Given the description of an element on the screen output the (x, y) to click on. 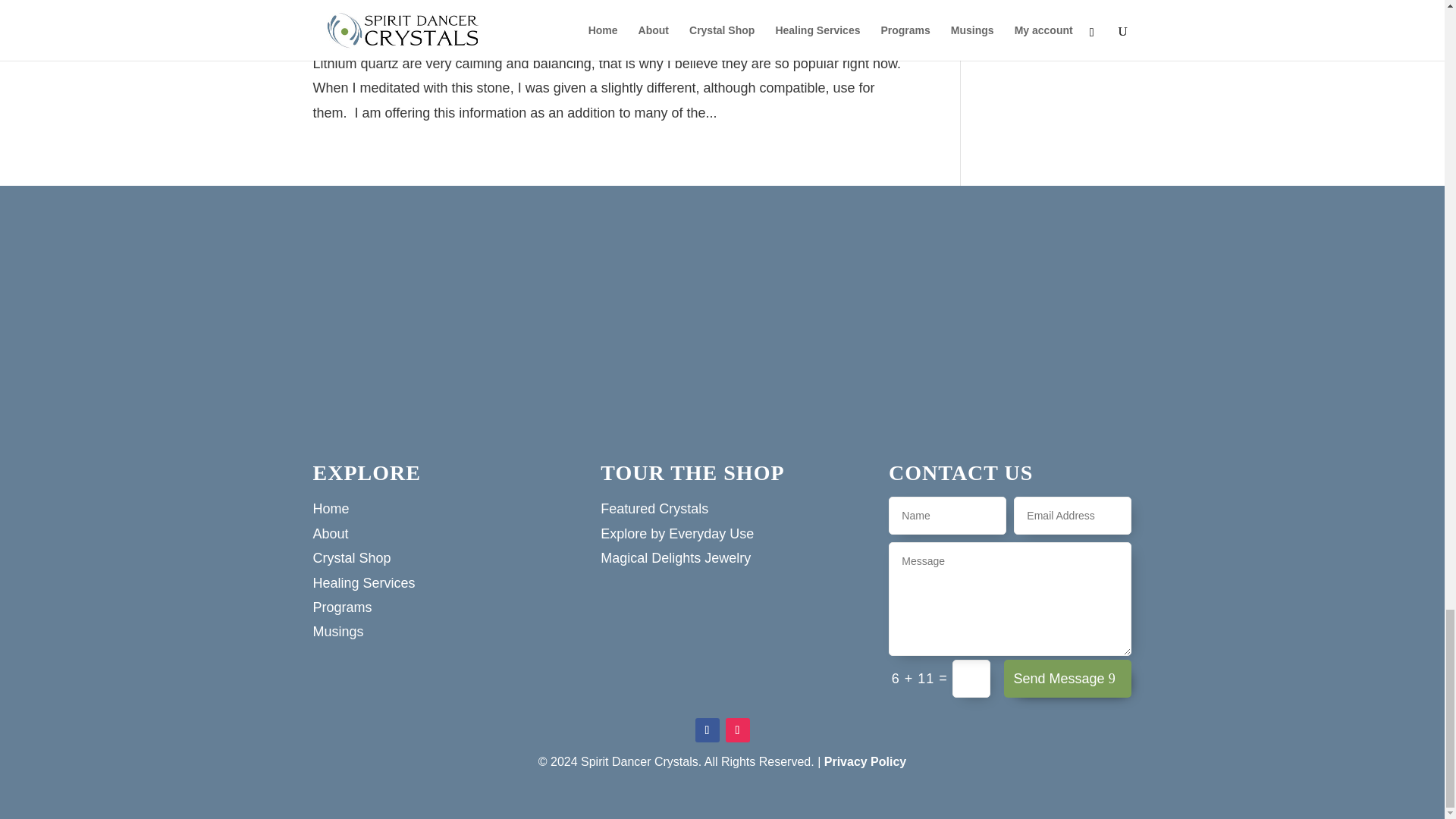
Jean Tindle (353, 23)
Crystal Musings (497, 23)
Follow on Instagram (737, 730)
Posts by Jean Tindle (353, 23)
Follow on Facebook (706, 730)
